Given the description of an element on the screen output the (x, y) to click on. 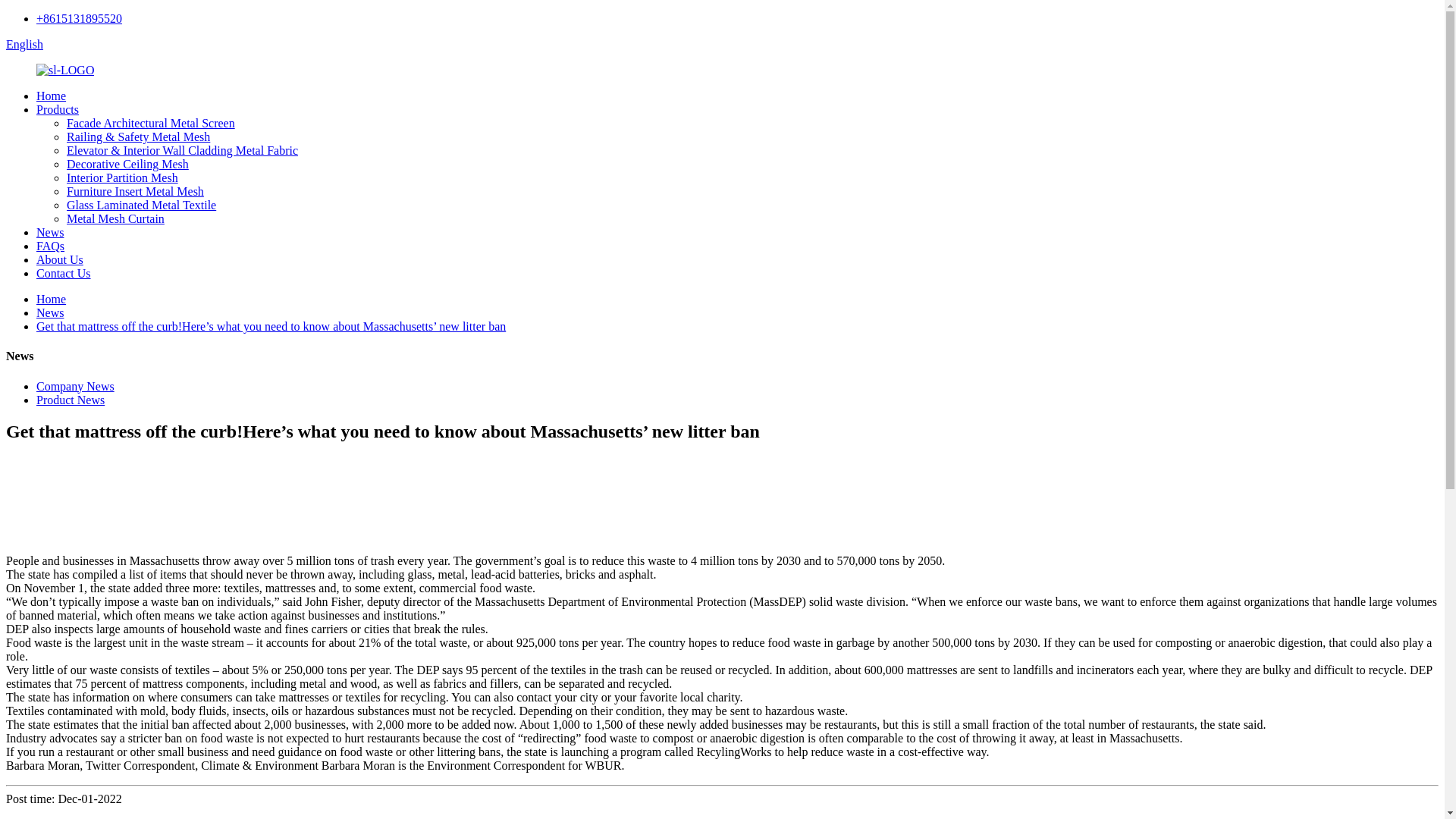
Interior Partition Mesh (121, 177)
Company News (75, 386)
English (24, 43)
News (50, 312)
Contact Us (63, 273)
Home (50, 95)
News (50, 232)
Metal Mesh Curtain (115, 218)
Furniture Insert Metal Mesh (134, 191)
Home (50, 298)
